Given the description of an element on the screen output the (x, y) to click on. 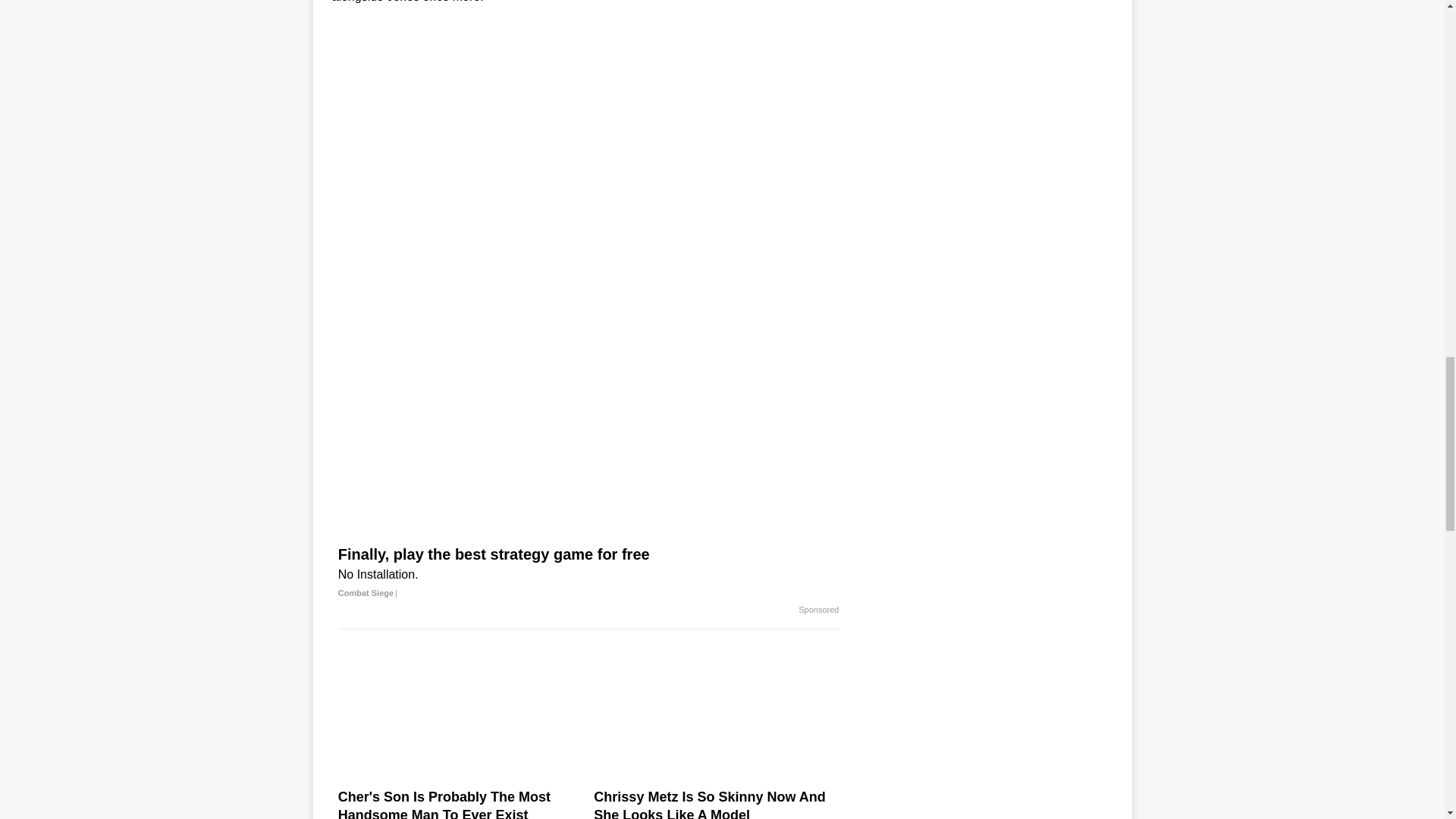
Sponsored (817, 610)
Finally, play the best strategy game for free (588, 573)
Cher's Son Is Probably The Most Handsome Man To Ever Exist (460, 803)
